Given the description of an element on the screen output the (x, y) to click on. 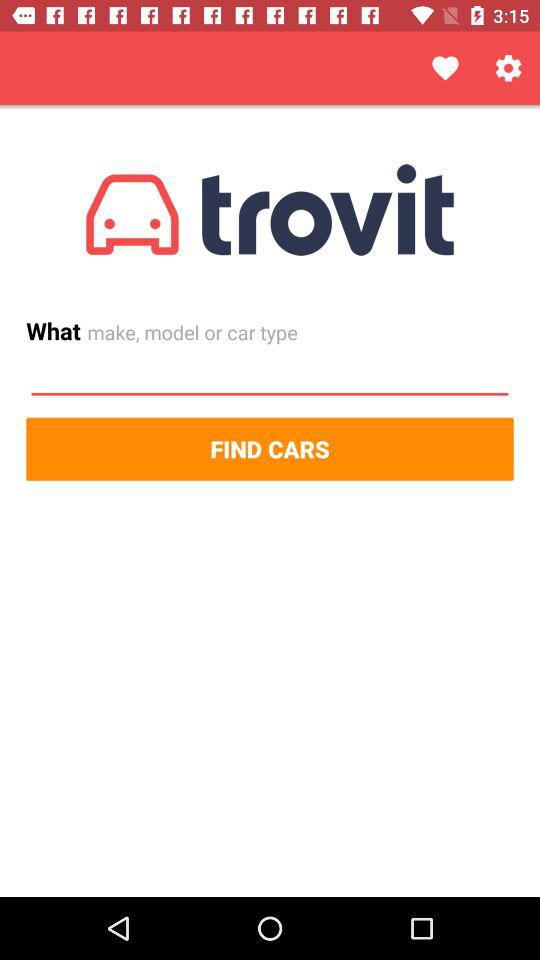
enter car type (269, 375)
